Given the description of an element on the screen output the (x, y) to click on. 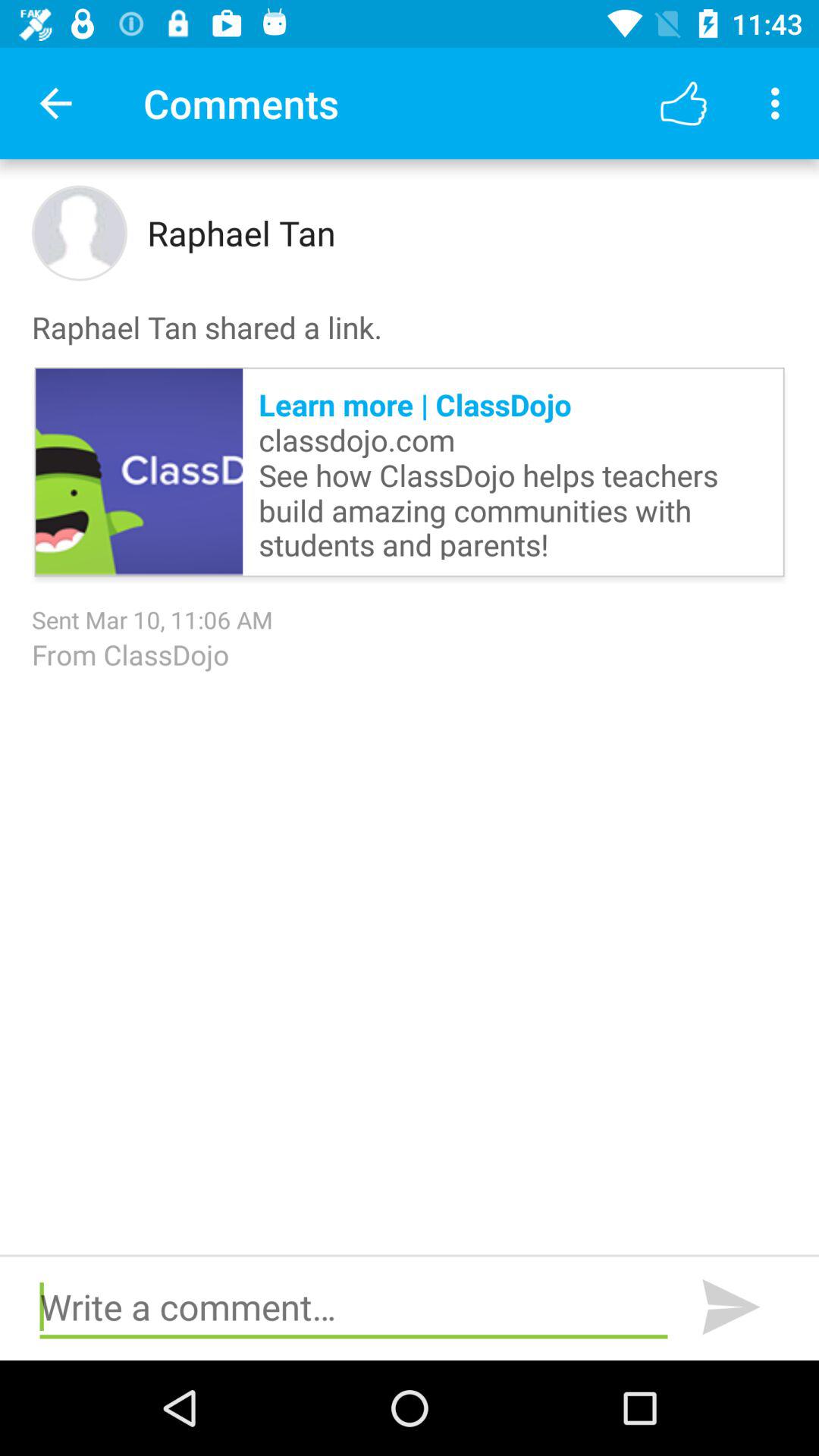
tap item above sent mar 10 icon (512, 471)
